Given the description of an element on the screen output the (x, y) to click on. 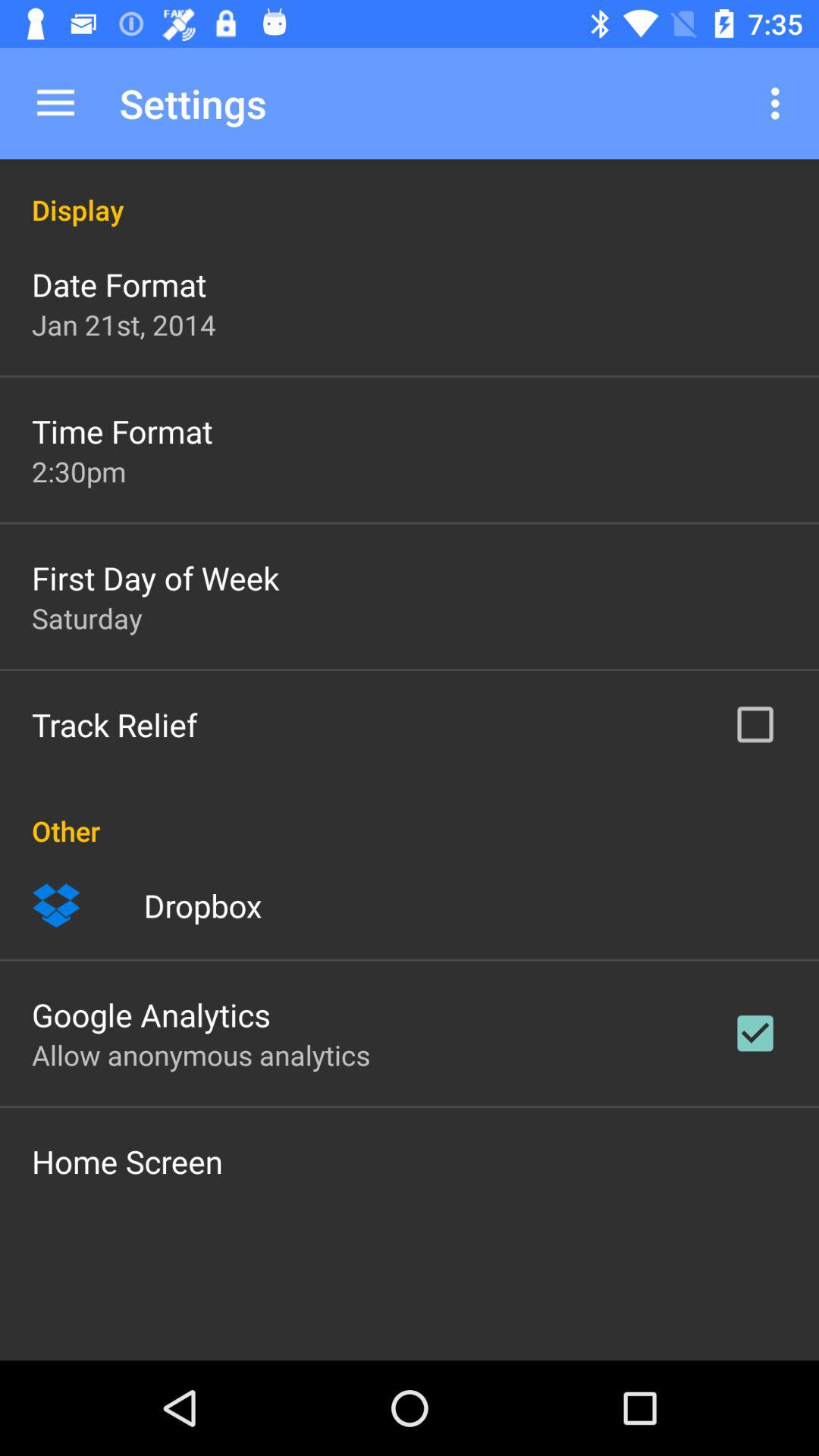
launch first day of app (155, 577)
